Given the description of an element on the screen output the (x, y) to click on. 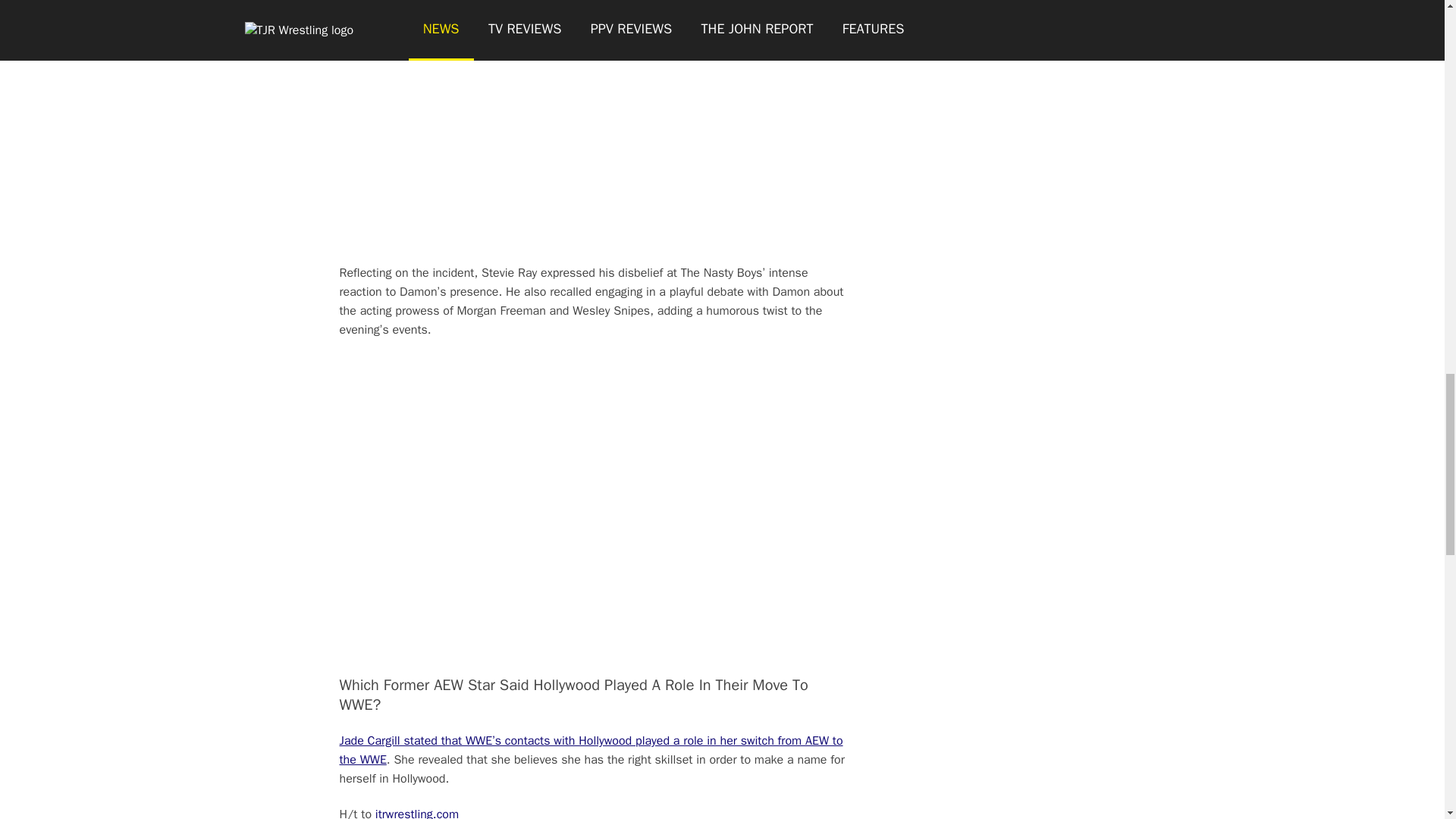
itrwrestling.com (416, 812)
